Given the description of an element on the screen output the (x, y) to click on. 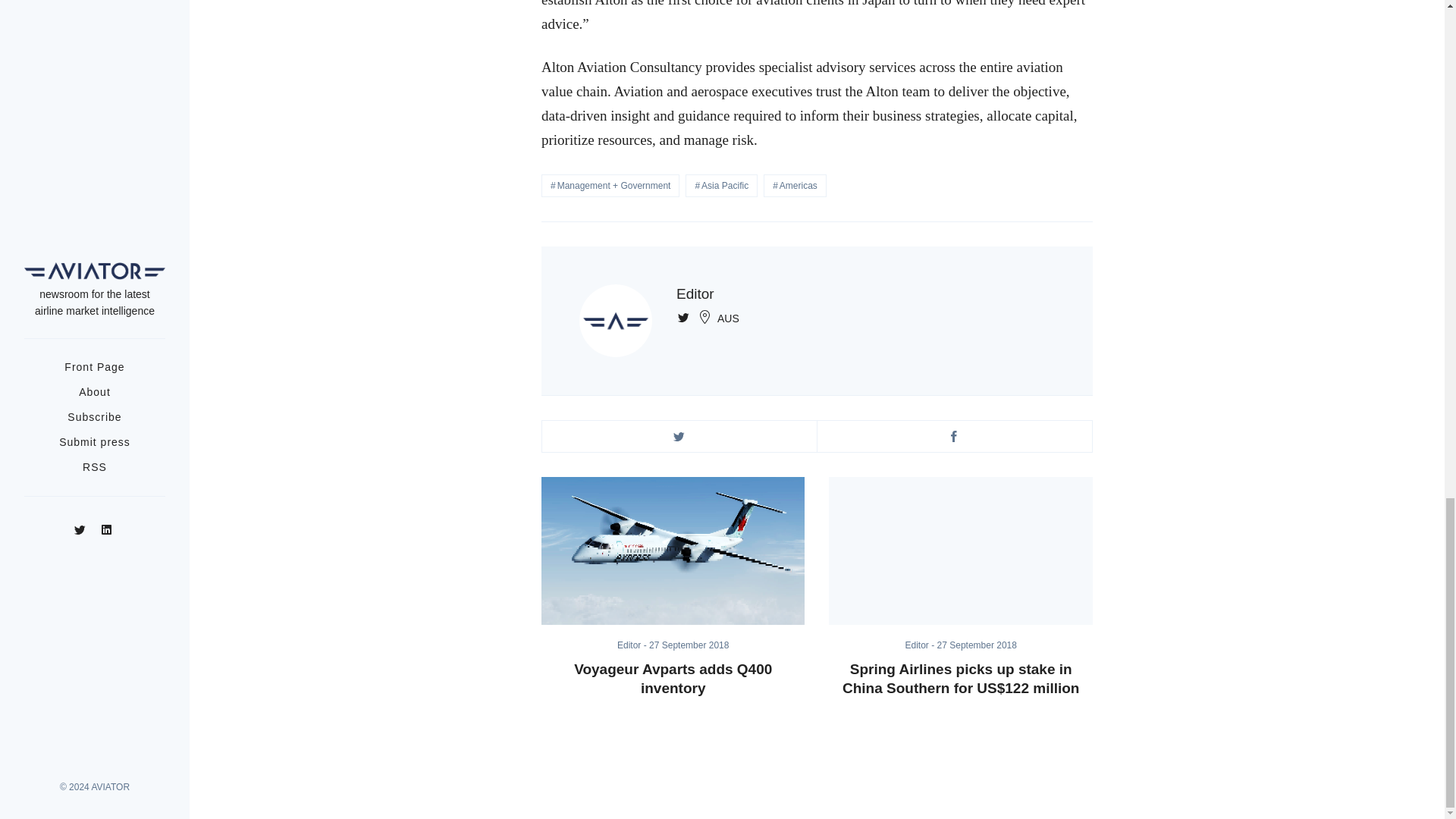
Voyageur Avparts adds Q400 inventory (673, 678)
Voyageur Avparts adds Q400 inventory (673, 550)
Asia Pacific (721, 185)
Editor (633, 644)
Voyageur Avparts adds Q400 inventory (673, 678)
Editor (695, 293)
Americas (794, 185)
Editor (921, 644)
Share on Facebook (954, 436)
Share on Twitter (678, 436)
